Given the description of an element on the screen output the (x, y) to click on. 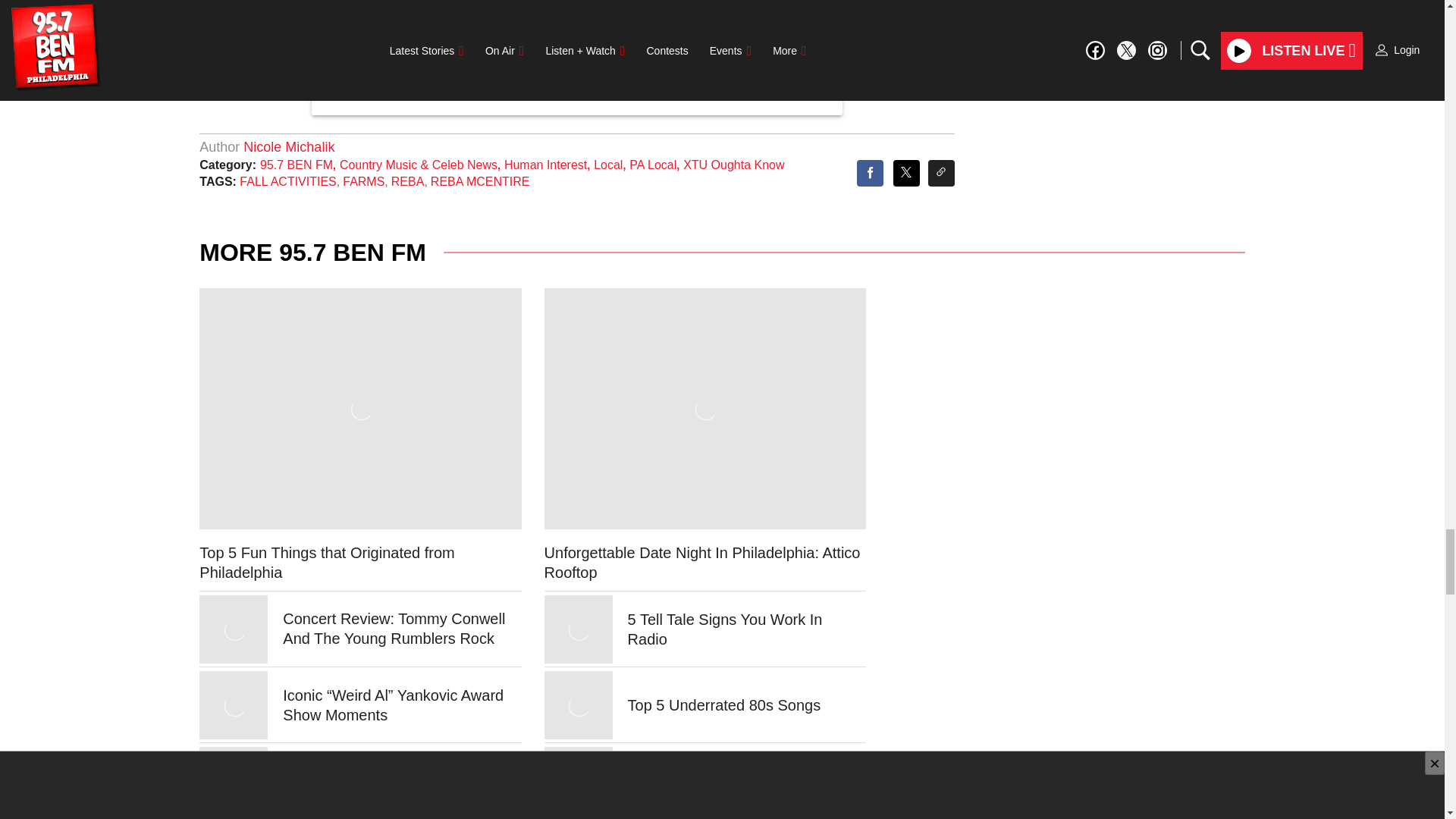
on (430, 67)
Nicole Michalik (288, 146)
